Given the description of an element on the screen output the (x, y) to click on. 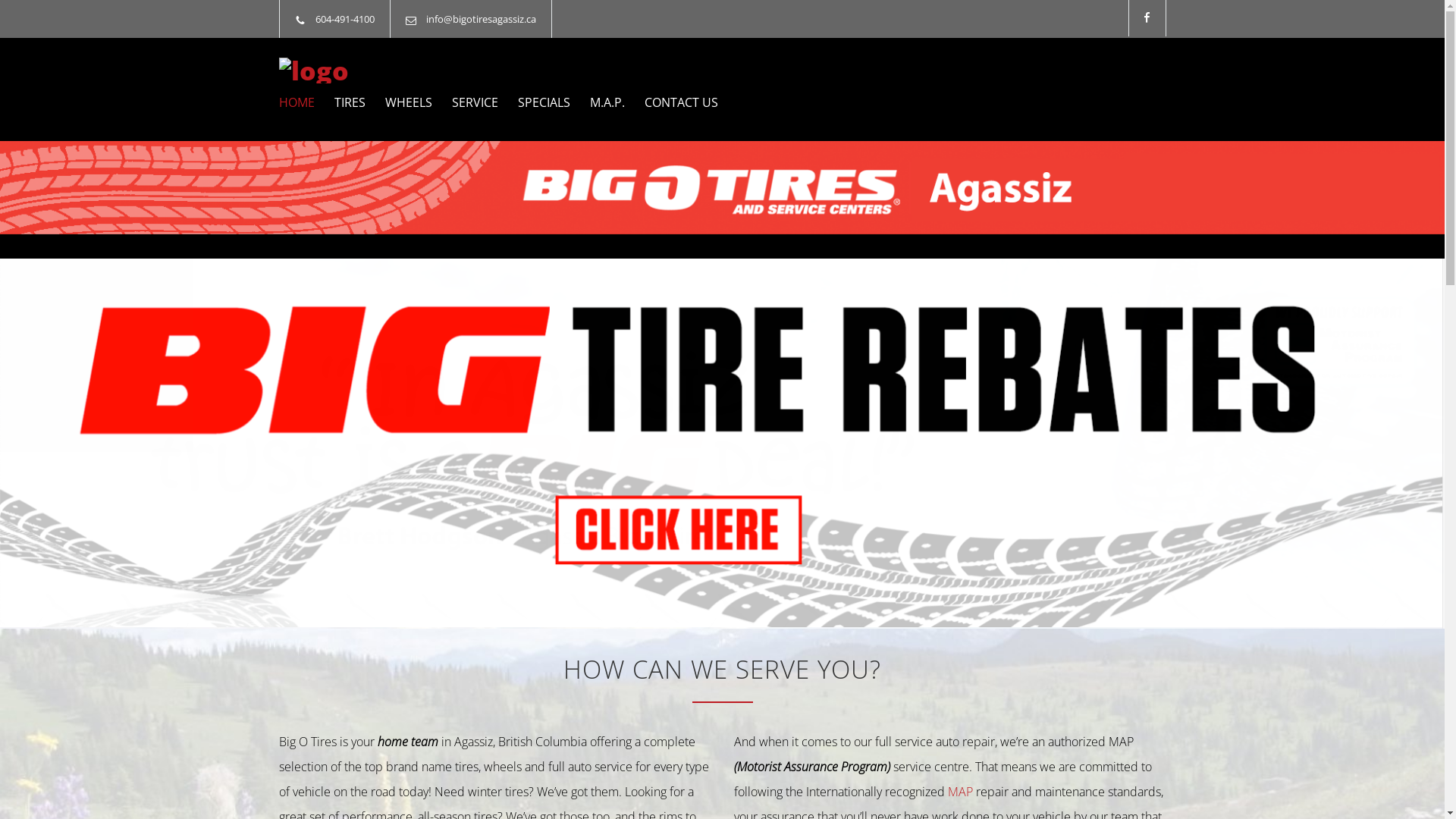
M.A.P. Element type: text (597, 102)
Big O Tires Agassiz Element type: hover (419, 70)
(Motorist Assurance Program) Element type: text (813, 766)
info@bigotiresagassiz.ca Element type: text (481, 18)
HOME Element type: text (296, 102)
SPECIALS Element type: text (533, 102)
WHEELS Element type: text (398, 102)
TIRES Element type: text (338, 102)
SERVICE Element type: text (465, 102)
CONTACT US Element type: text (671, 102)
MAP Element type: text (959, 791)
